Given the description of an element on the screen output the (x, y) to click on. 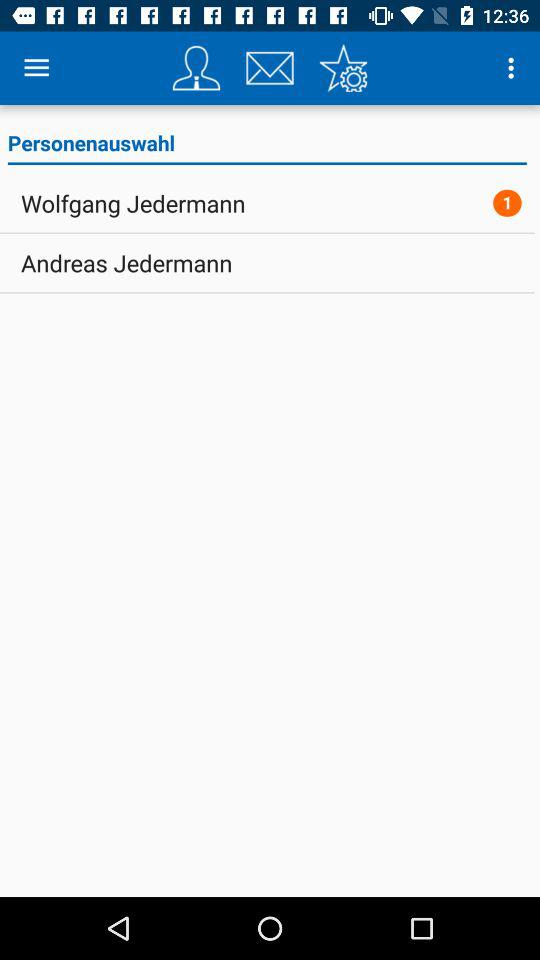
launch the  1  icon (507, 202)
